Given the description of an element on the screen output the (x, y) to click on. 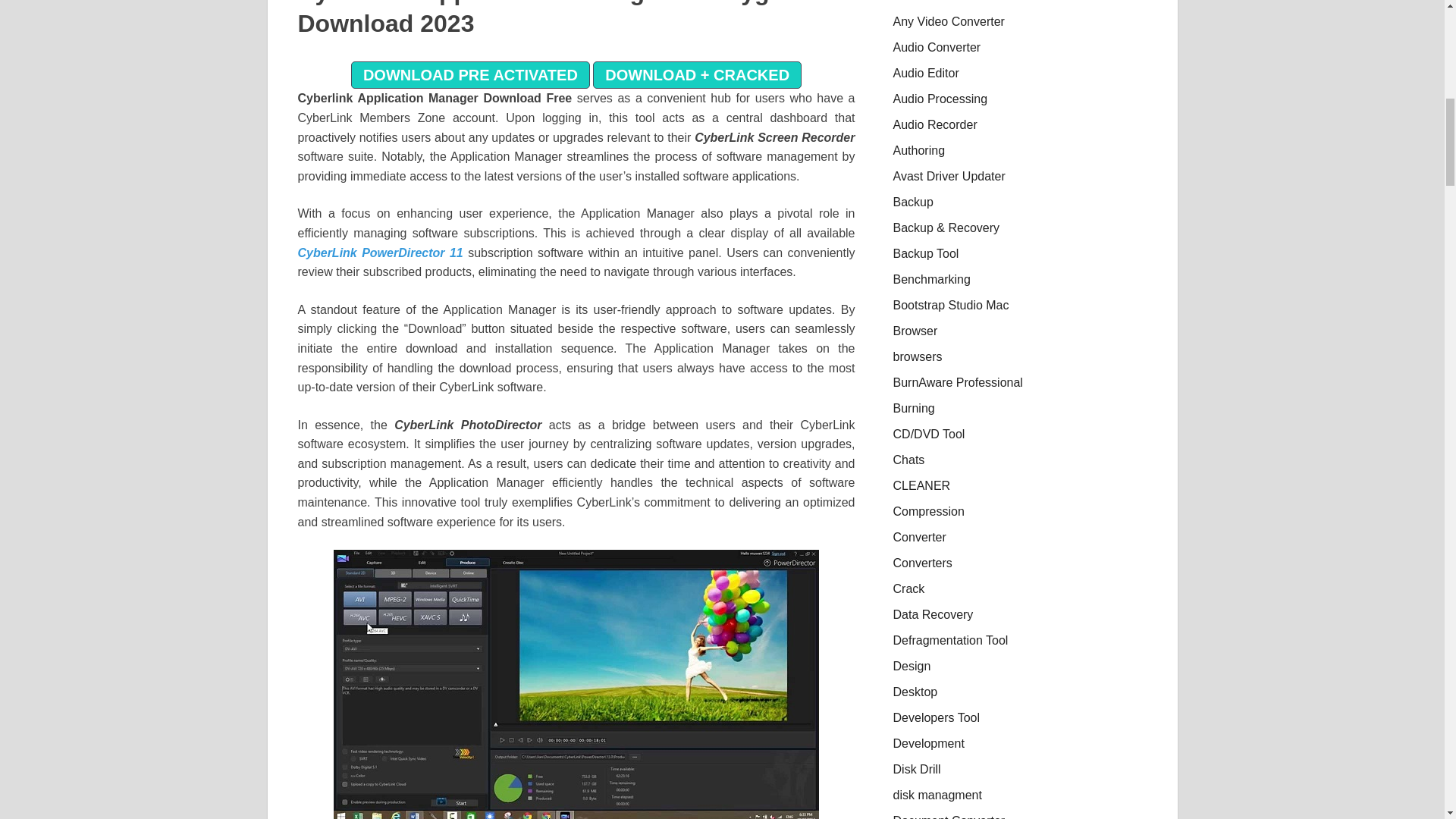
DOWNLOAD PRE ACTIVATED (469, 74)
CyberLink PowerDirector 11 (380, 252)
